Given the description of an element on the screen output the (x, y) to click on. 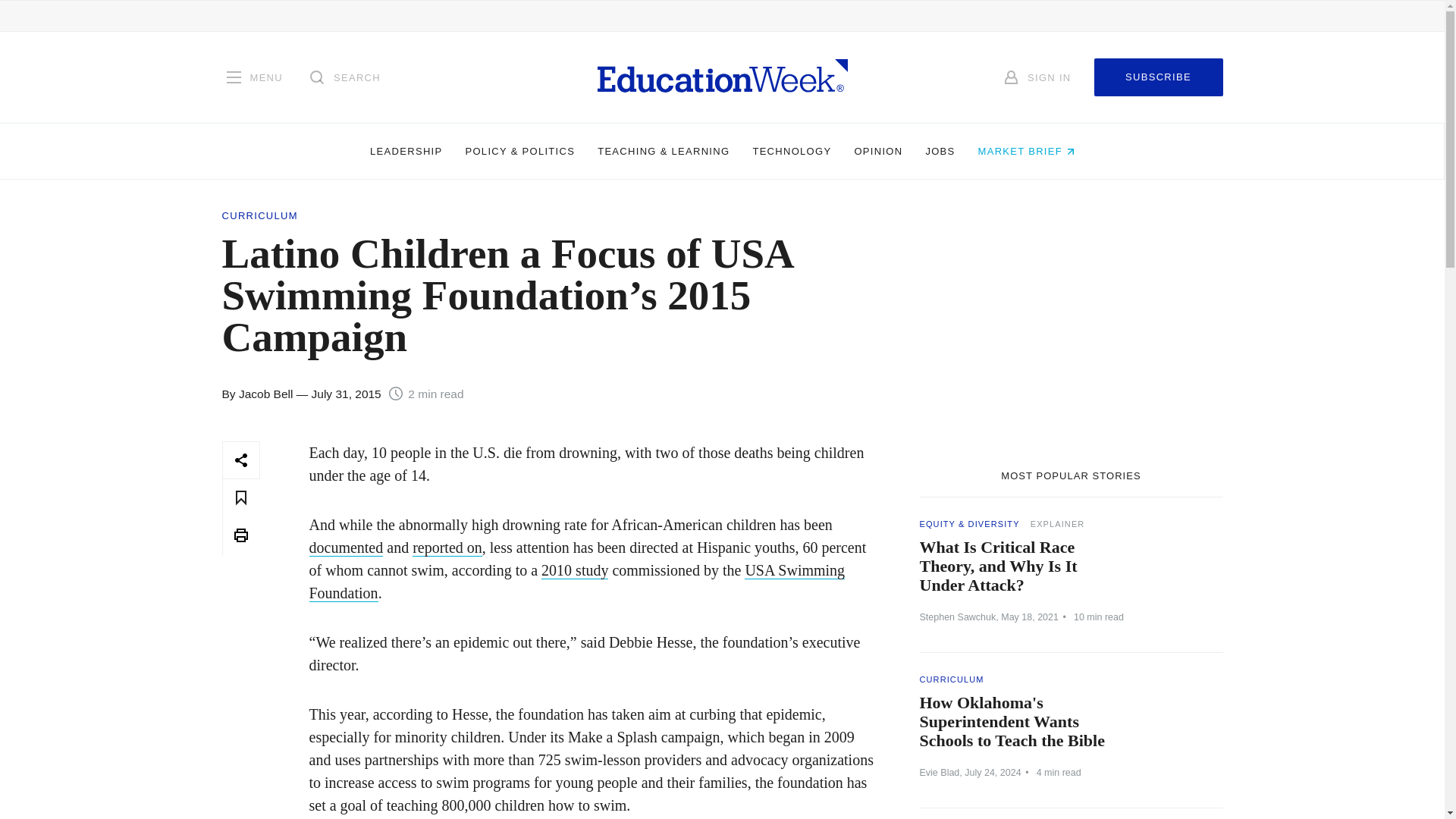
Homepage (721, 76)
